Given the description of an element on the screen output the (x, y) to click on. 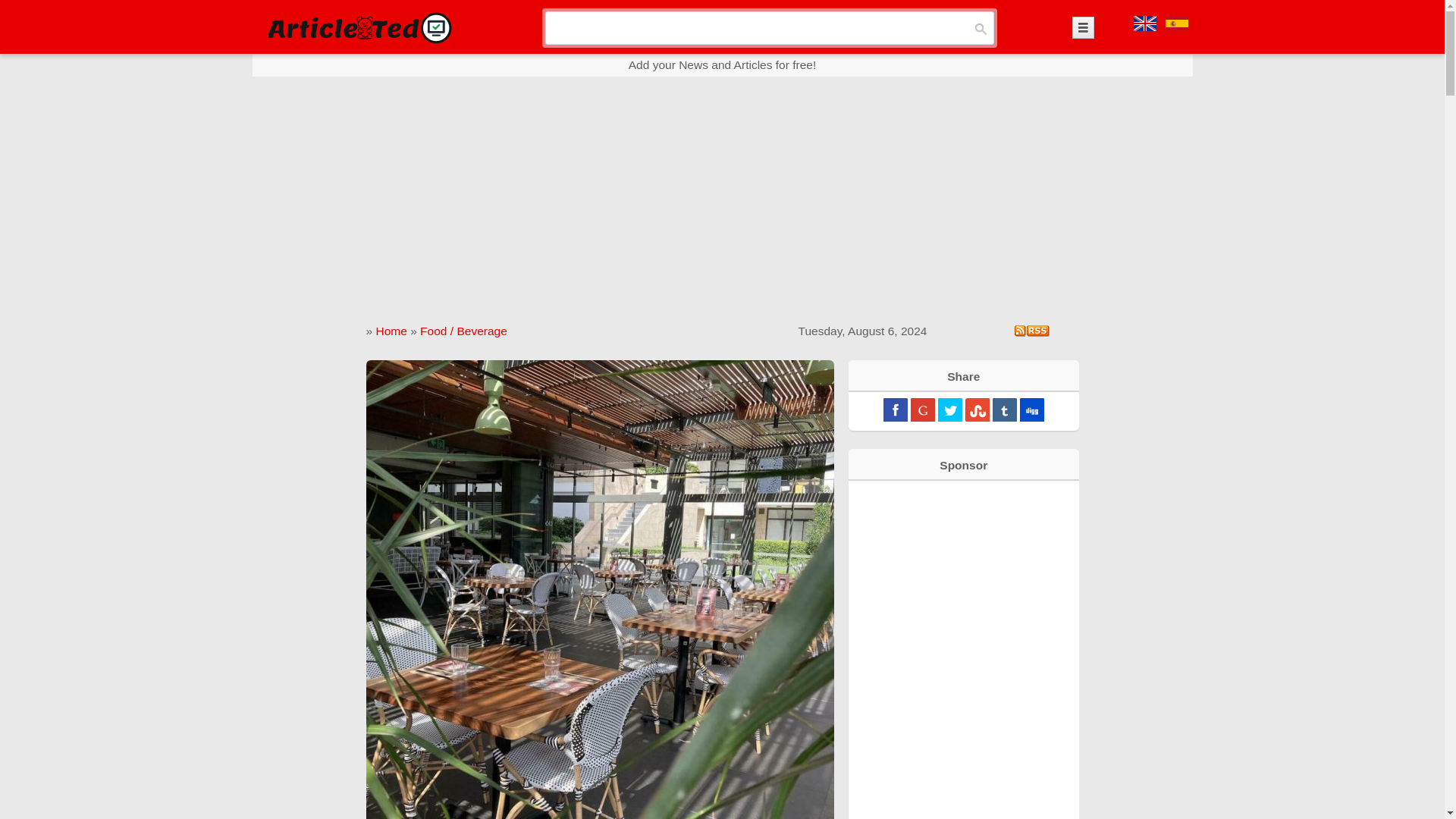
Home (390, 330)
ArticleTed -  News and Articles (357, 27)
